Given the description of an element on the screen output the (x, y) to click on. 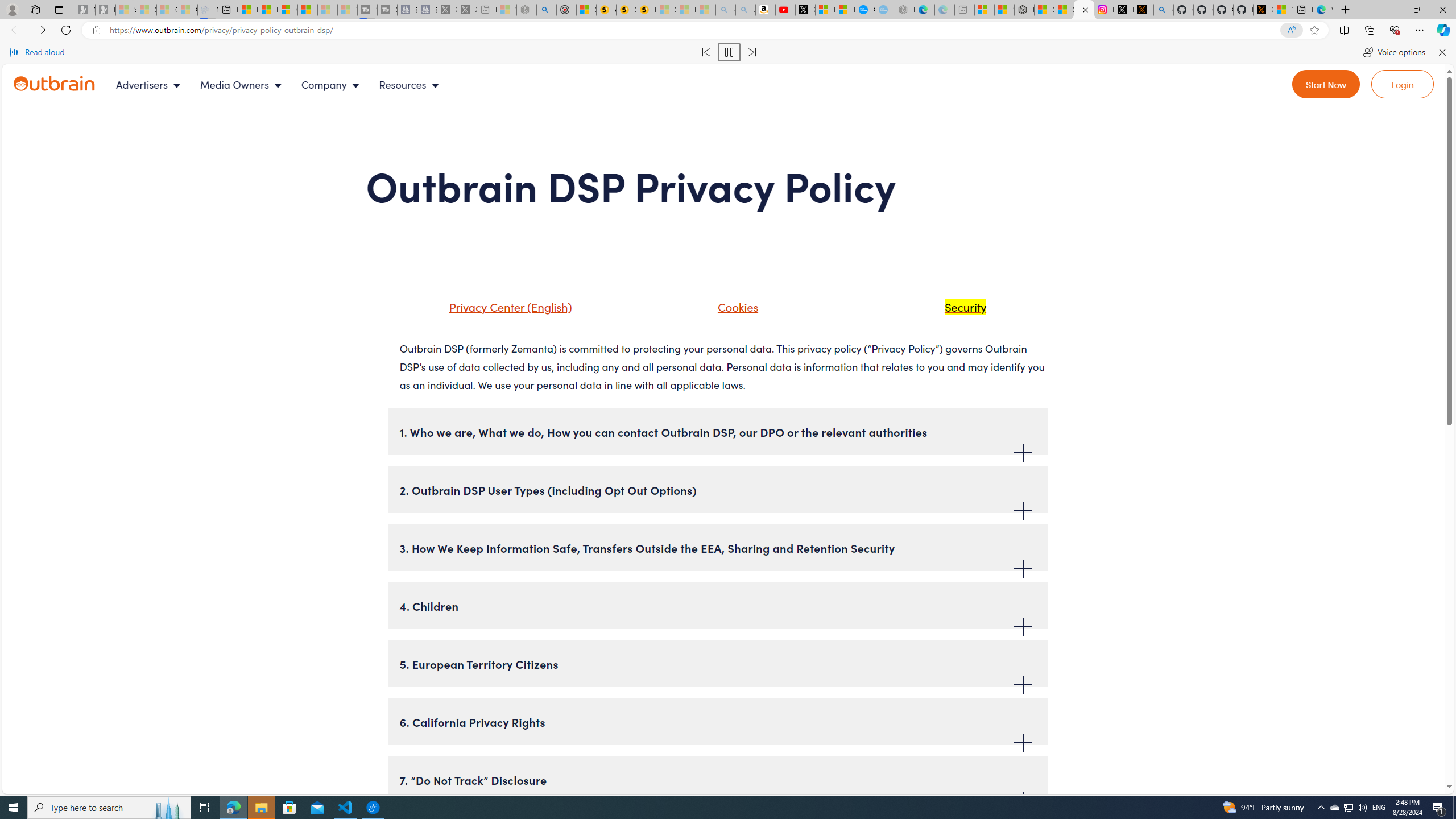
Michelle Starr, Senior Journalist at ScienceAlert (646, 9)
Nordace - Nordace has arrived Hong Kong - Sleeping (904, 9)
X - Sleeping (466, 9)
Log in to X / X (1123, 9)
Opinion: Op-Ed and Commentary - USA TODAY (864, 9)
Go to Register (1325, 83)
